Given the description of an element on the screen output the (x, y) to click on. 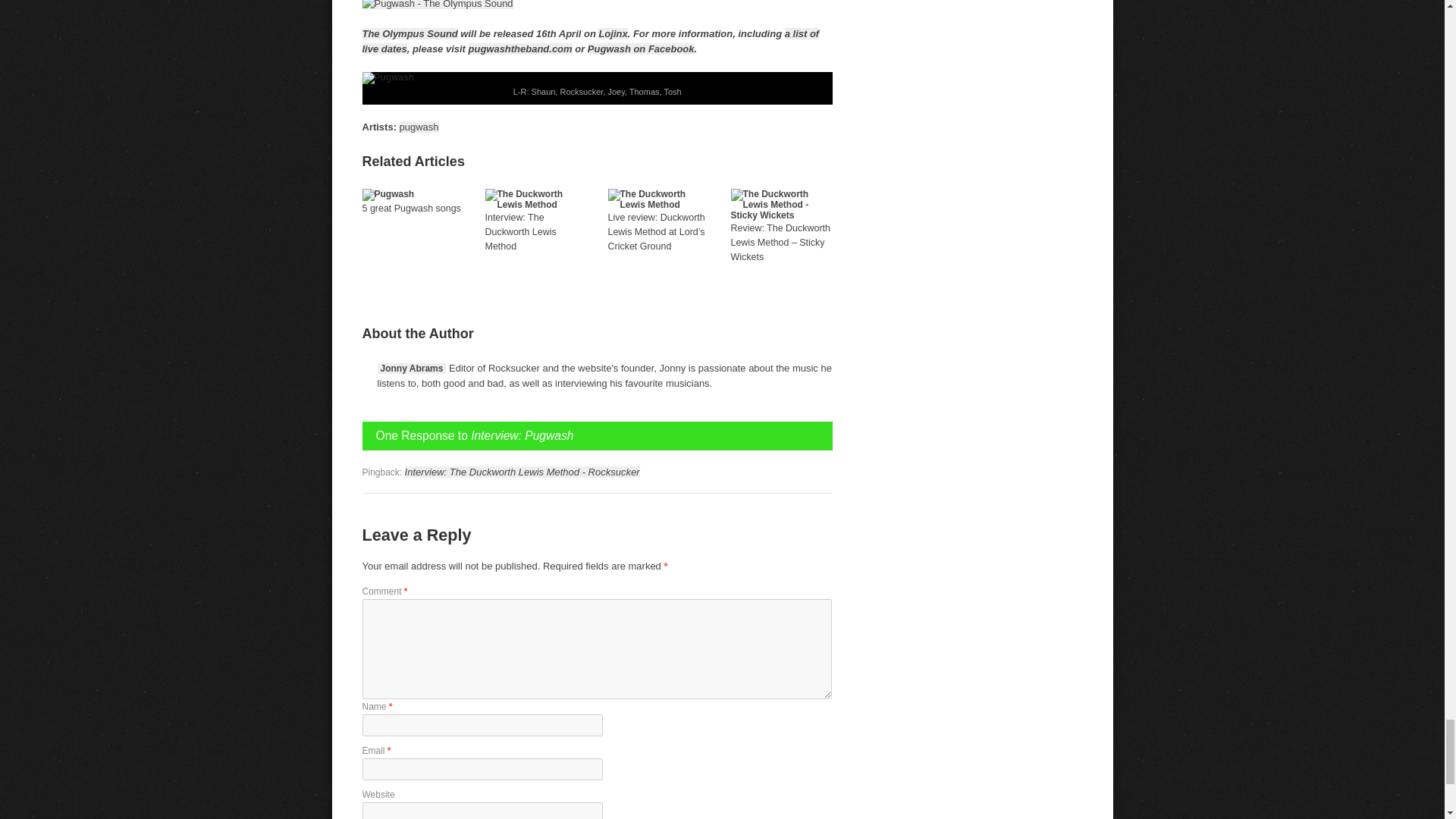
Lojinx (612, 33)
5 great Pugwash songs (388, 194)
5 great Pugwash songs (411, 208)
Posts by Jonny Abrams (411, 368)
The Olympus Sound (410, 33)
Interview: The Duckworth Lewis Method (535, 204)
a list of live dates (590, 40)
Interview: The Duckworth Lewis Method (520, 231)
